Given the description of an element on the screen output the (x, y) to click on. 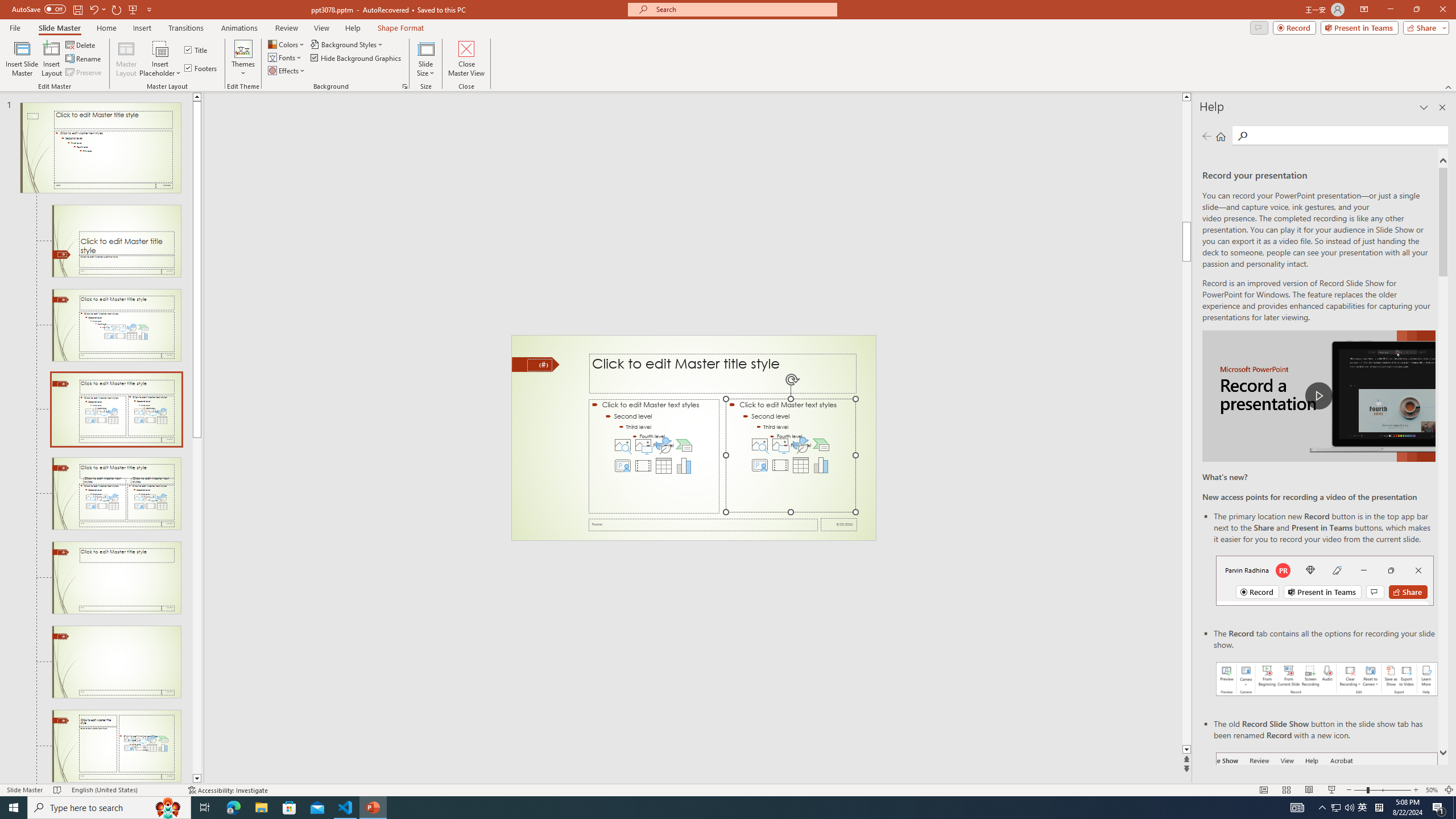
Insert Chart (820, 465)
Delete (81, 44)
Slide Master (59, 28)
Record your presentations screenshot one (1326, 678)
Insert Table (800, 465)
play Record a Presentation (1318, 395)
Shape Format (400, 28)
Slide Blank Layout: used by no slides (116, 746)
Hide Background Graphics (356, 56)
